Given the description of an element on the screen output the (x, y) to click on. 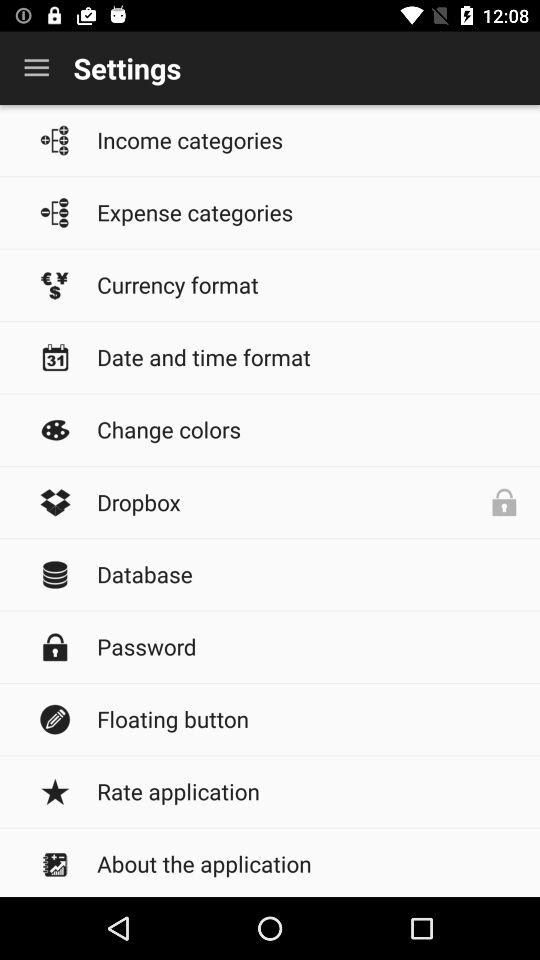
turn on the icon next to settings (36, 68)
